Given the description of an element on the screen output the (x, y) to click on. 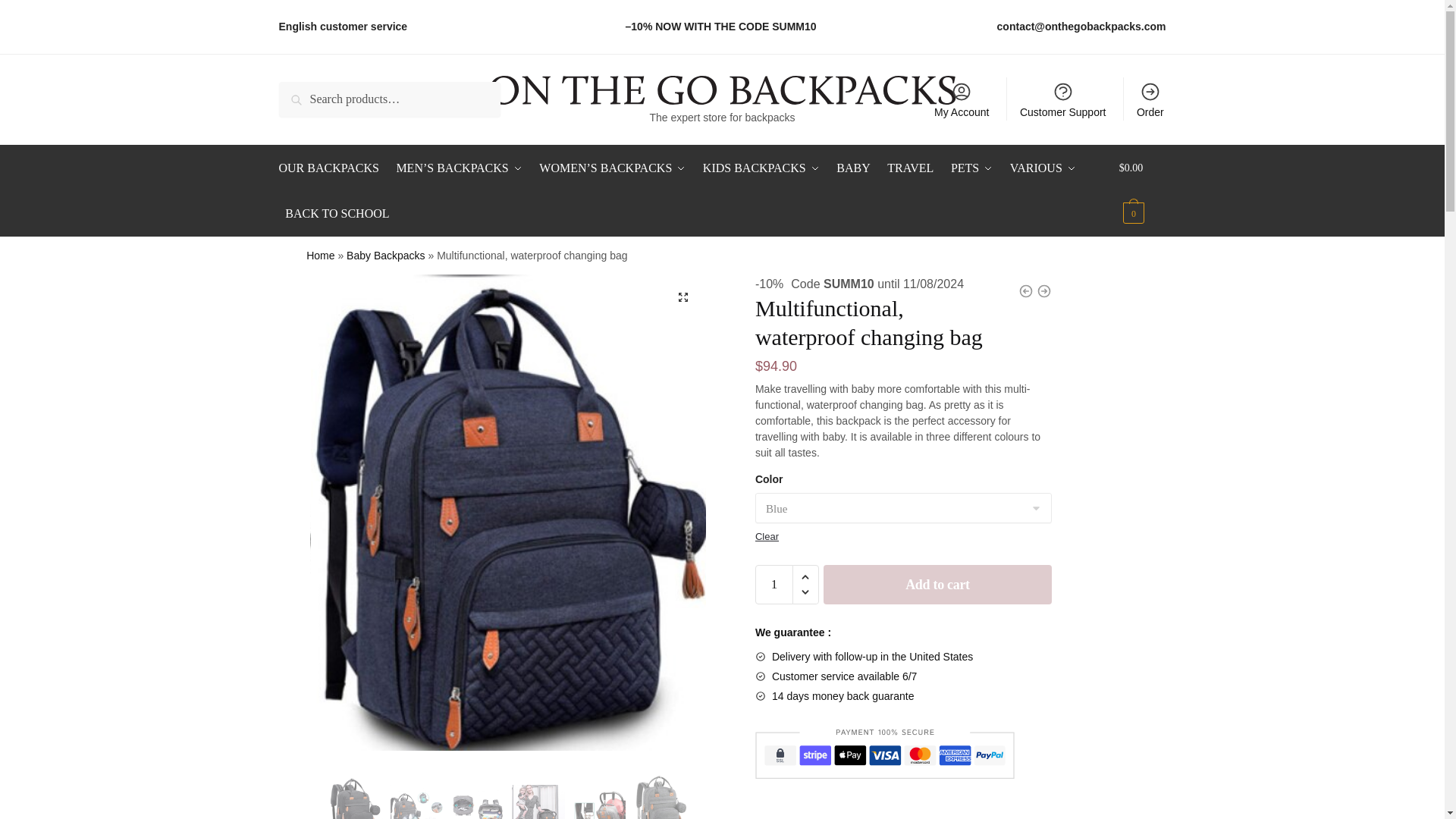
1 (774, 584)
My Account (961, 98)
Customer Support (1062, 98)
Order (1149, 98)
Search (300, 92)
OUR BACKPACKS (332, 167)
